Given the description of an element on the screen output the (x, y) to click on. 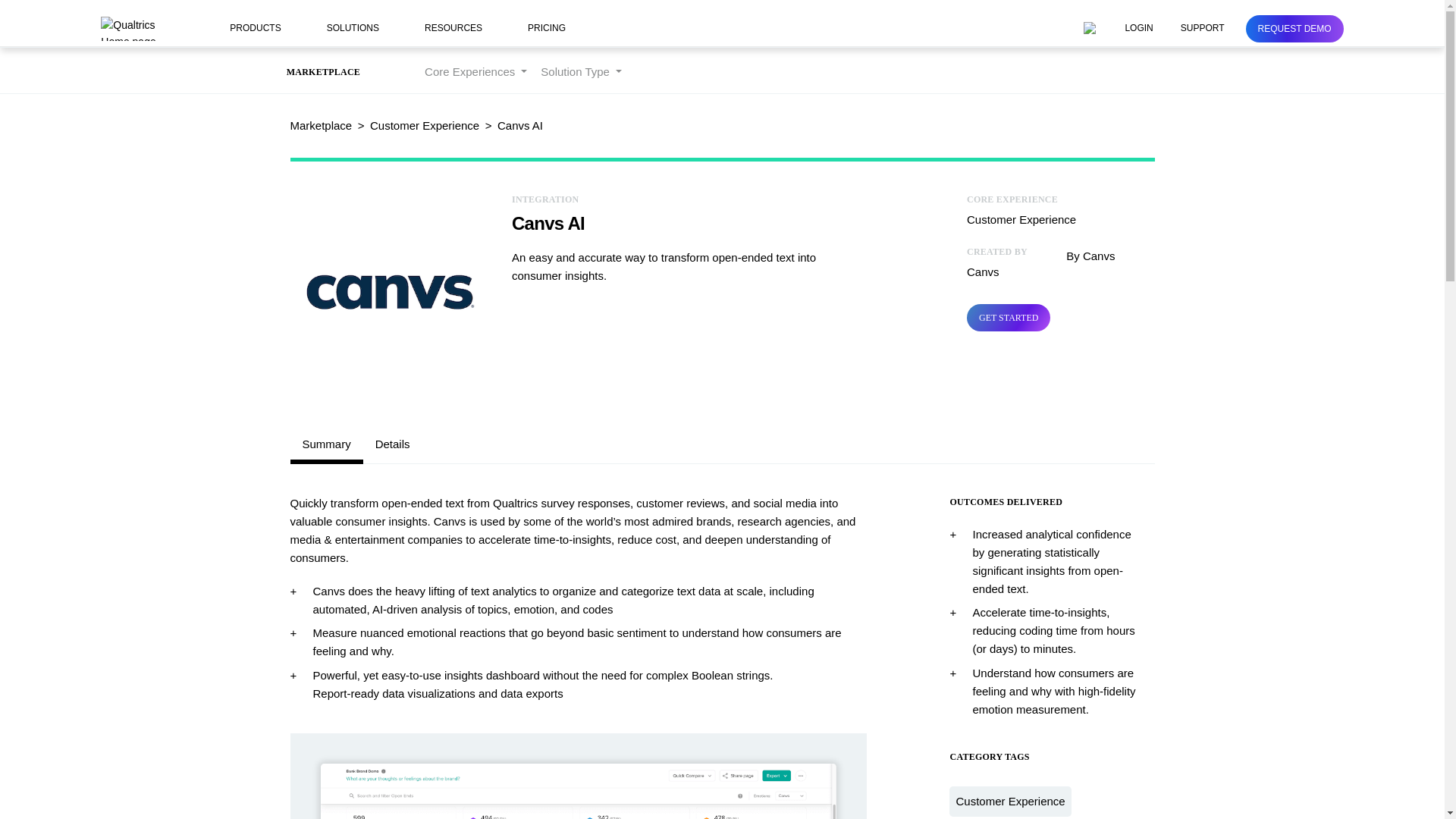
SOLUTIONS (361, 28)
Skip to main content (51, 9)
PRICING (546, 28)
RESOURCES (462, 28)
PRODUCTS (264, 28)
